Given the description of an element on the screen output the (x, y) to click on. 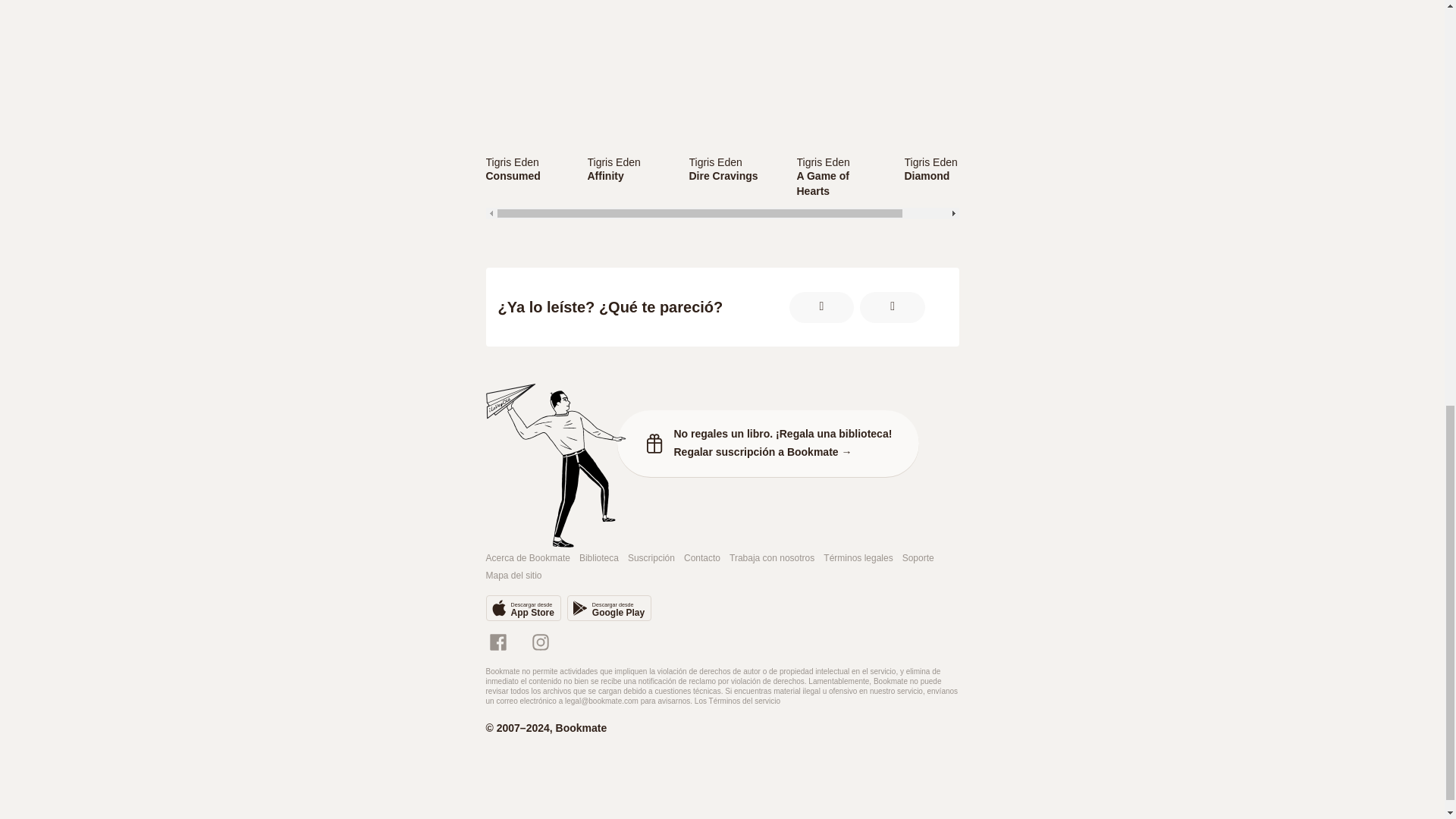
Affinity (627, 175)
Tigris Eden (930, 162)
Tigris Eden (511, 162)
Consumed (525, 175)
Consumed (525, 175)
Mapa del sitio (512, 575)
Tigris Eden (522, 607)
Contacto (525, 161)
Tigris Eden (702, 558)
Diamond (627, 161)
Tigris Eden (947, 175)
Tigris Eden (613, 162)
A Game of Hearts (947, 161)
